Given the description of an element on the screen output the (x, y) to click on. 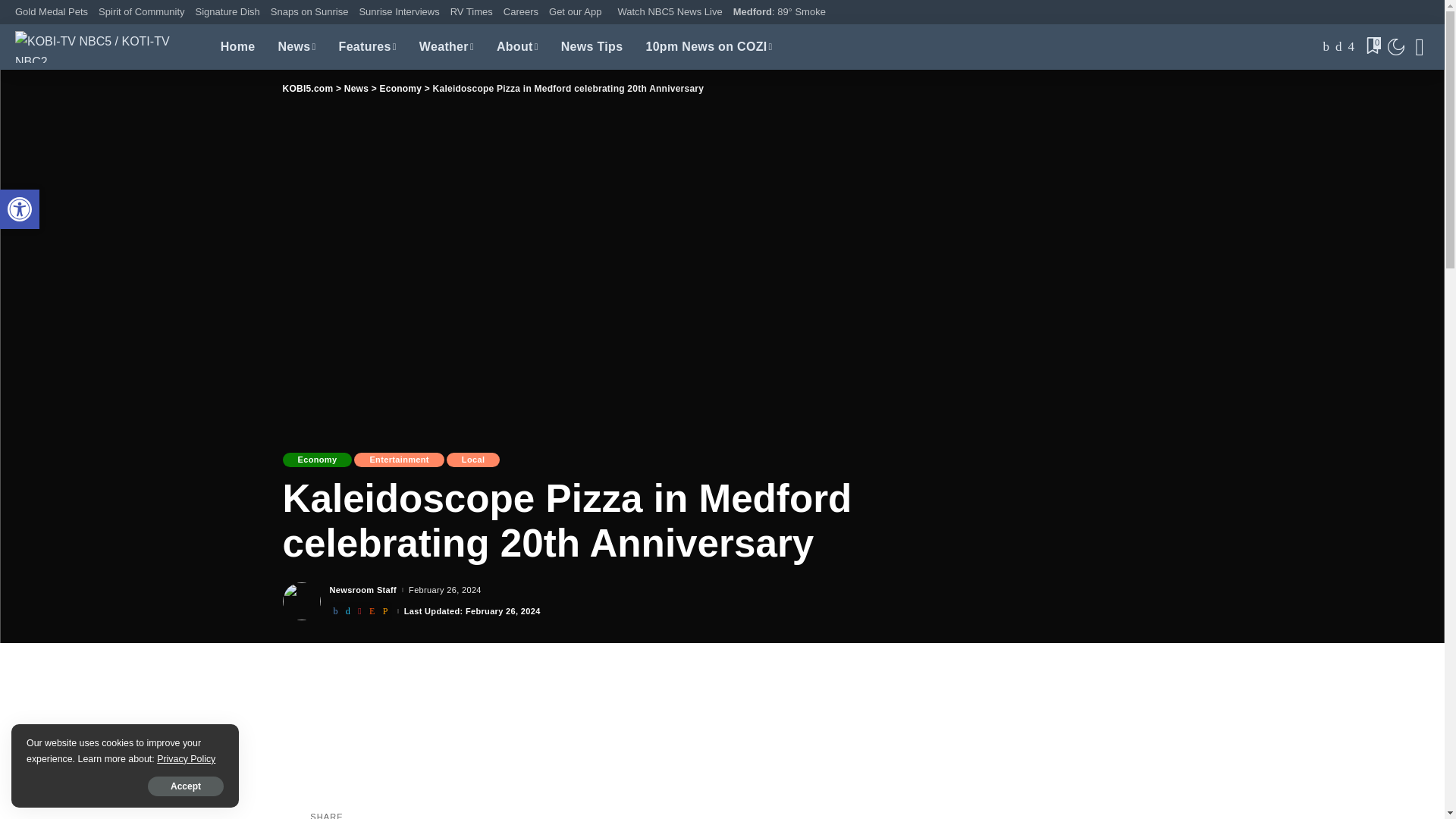
Go to the News category archives. (355, 88)
Accessibility Tools (19, 209)
Decrease Text (19, 209)
2024-02-26T10:25:10-08:00 (19, 209)
